Given the description of an element on the screen output the (x, y) to click on. 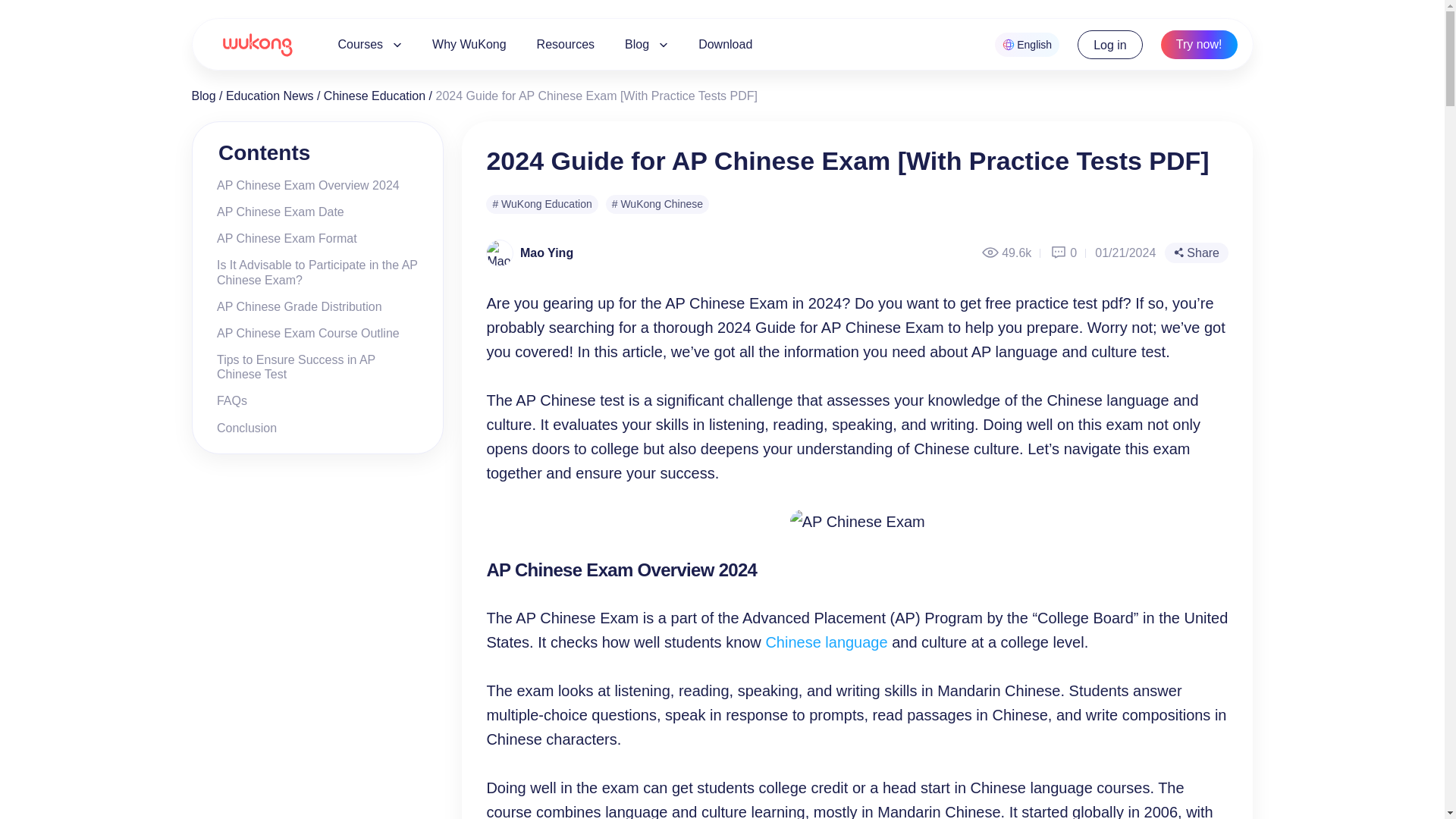
AP Chinese Exam Course Outline (301, 332)
AP Chinese Grade Distribution (293, 306)
Courses (362, 43)
Try now! (1198, 44)
Log in (1109, 44)
Blog (202, 95)
Is It Advisable to Participate in the AP Chinese Exam? (312, 271)
English (1026, 43)
AP Chinese Exam Date (274, 211)
Why WuKong (469, 43)
